Given the description of an element on the screen output the (x, y) to click on. 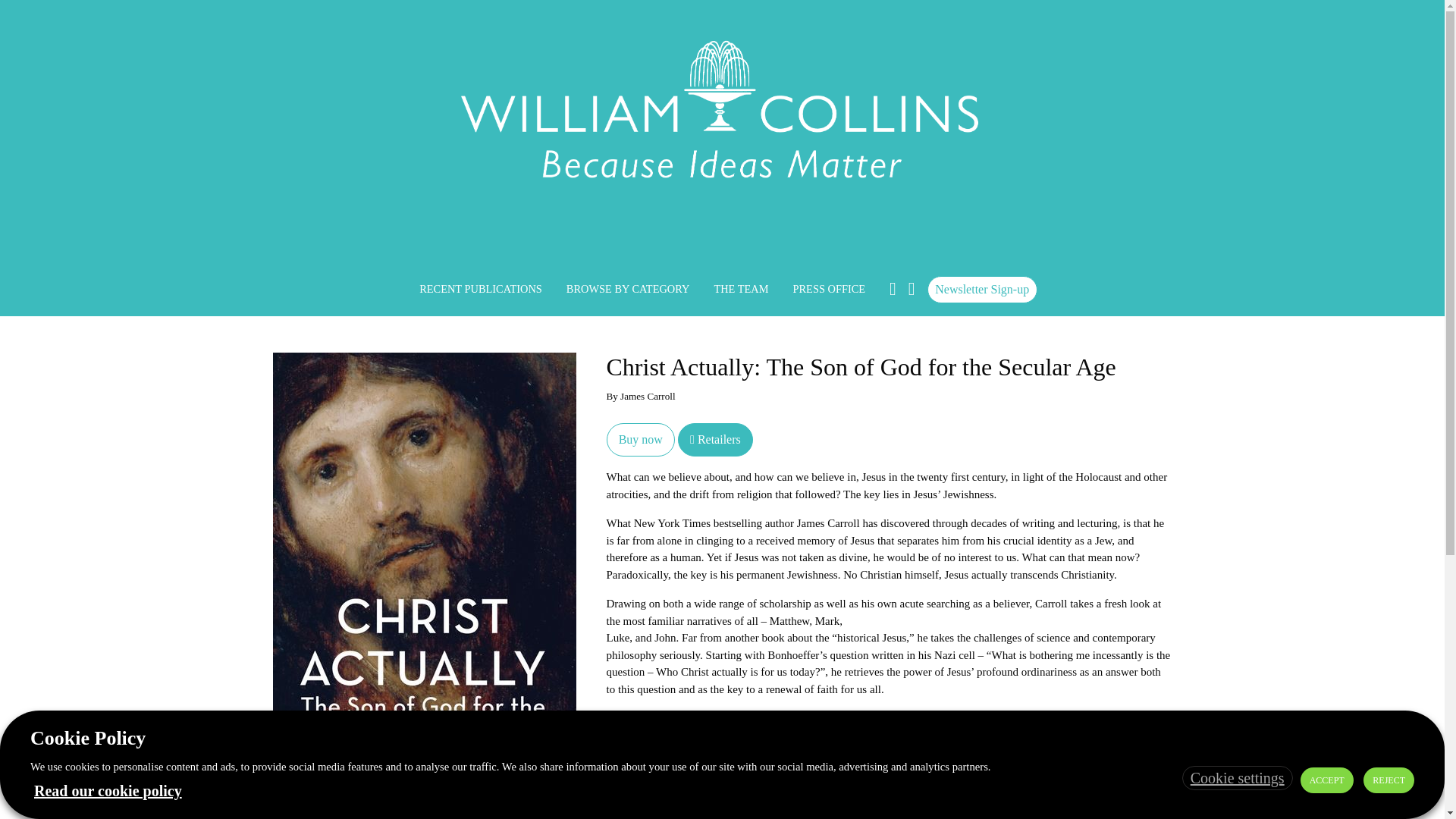
RECENT PUBLICATIONS (480, 289)
Details (623, 778)
About the Author (692, 778)
Newsletter Sign-up (981, 289)
PRESS OFFICE (828, 289)
James Carroll (679, 813)
THE TEAM (740, 289)
Buy now (641, 439)
Retailers (715, 439)
BROWSE BY CATEGORY (627, 289)
